Given the description of an element on the screen output the (x, y) to click on. 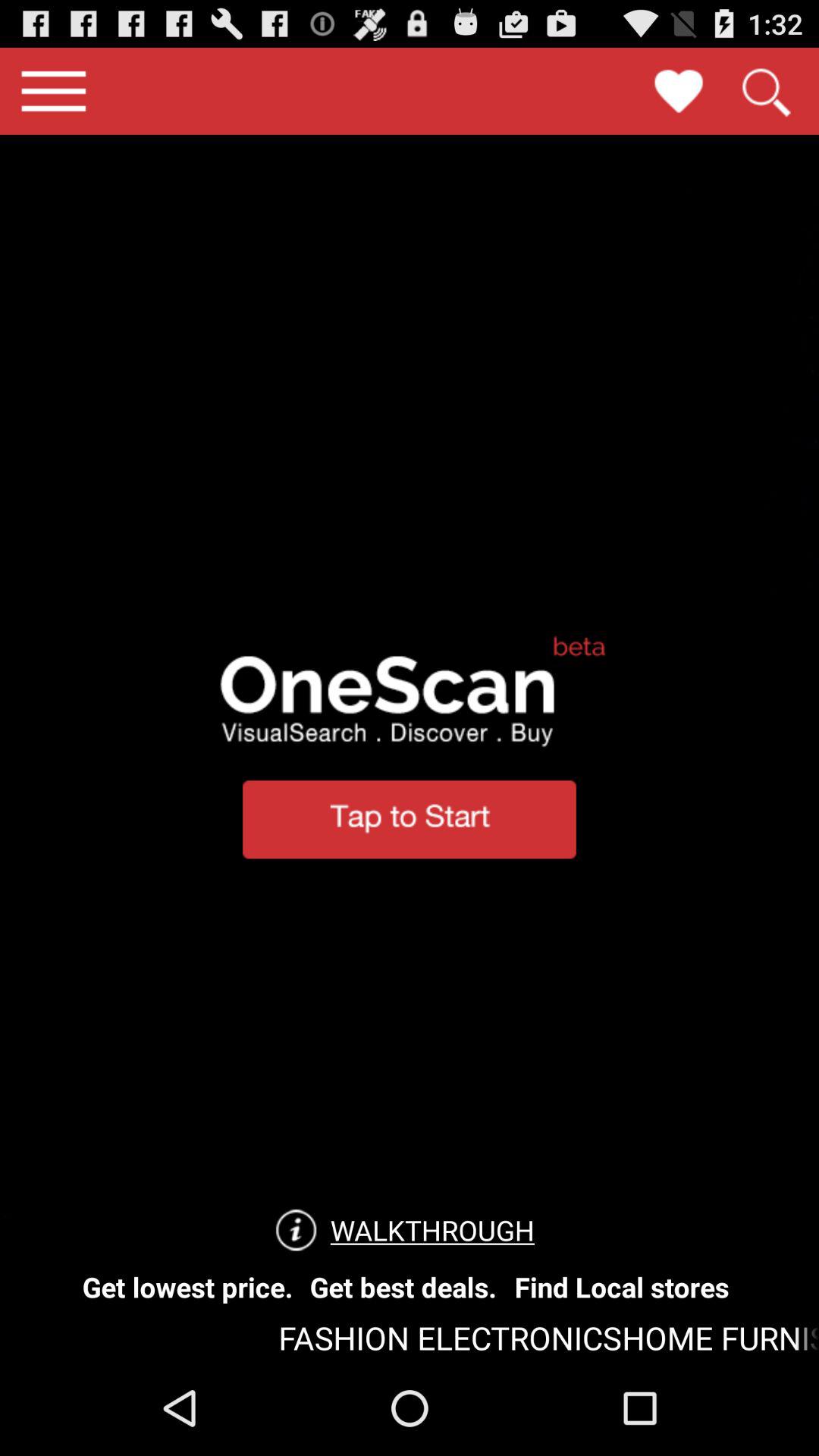
mark as a favorite (678, 91)
